Given the description of an element on the screen output the (x, y) to click on. 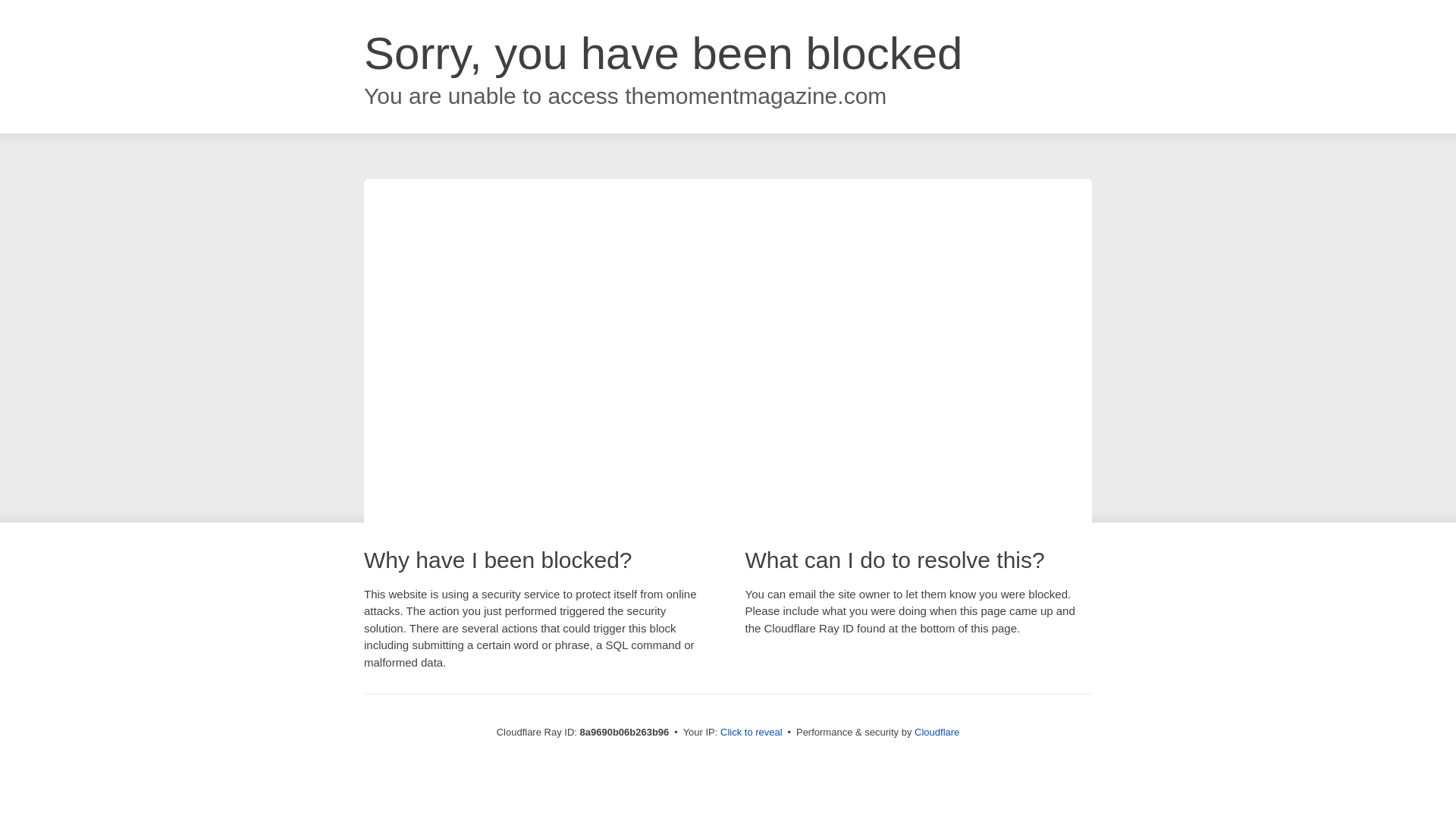
Click to reveal (751, 732)
Cloudflare (936, 731)
